Given the description of an element on the screen output the (x, y) to click on. 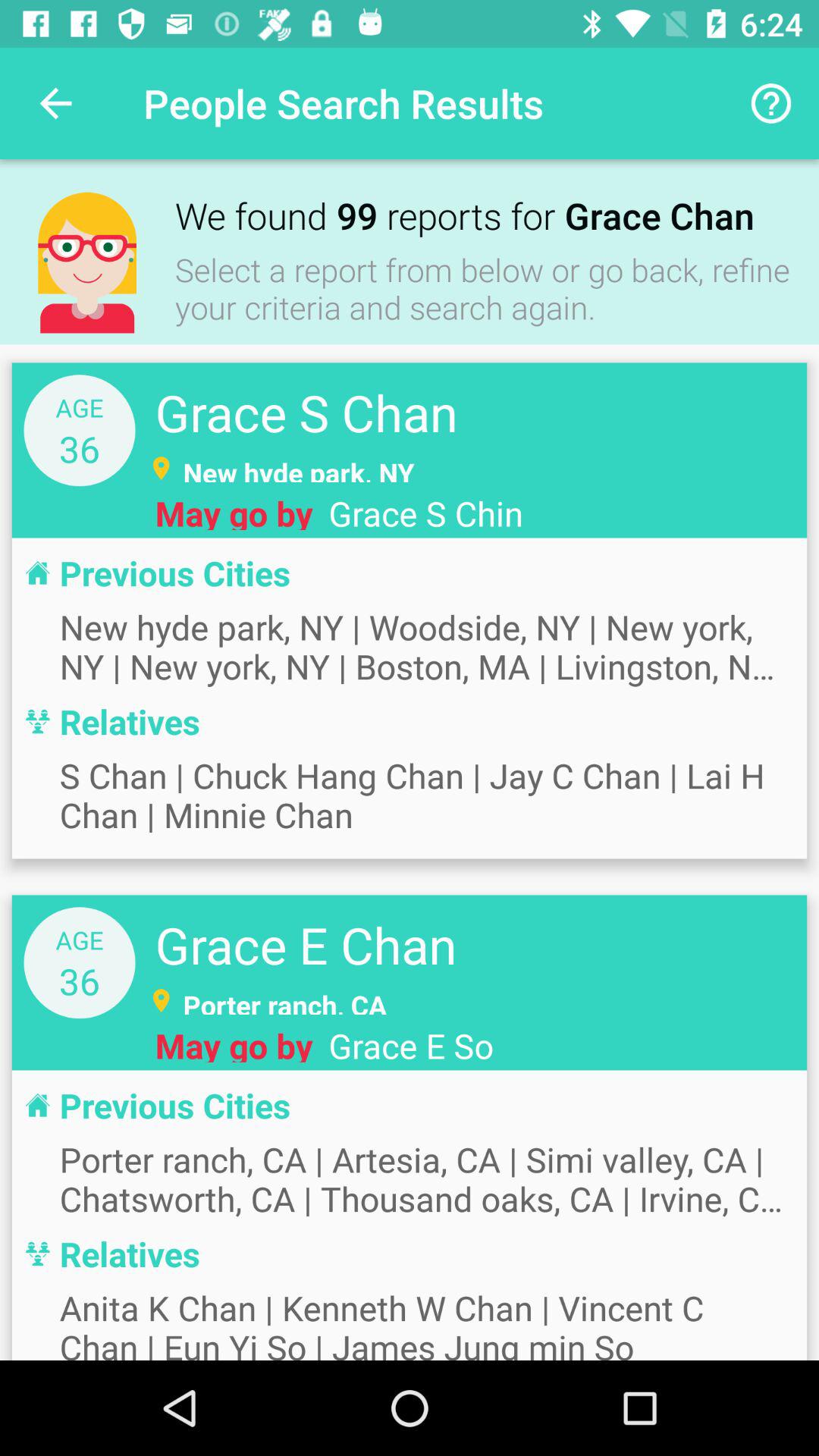
turn on the item next to people search results icon (55, 103)
